Given the description of an element on the screen output the (x, y) to click on. 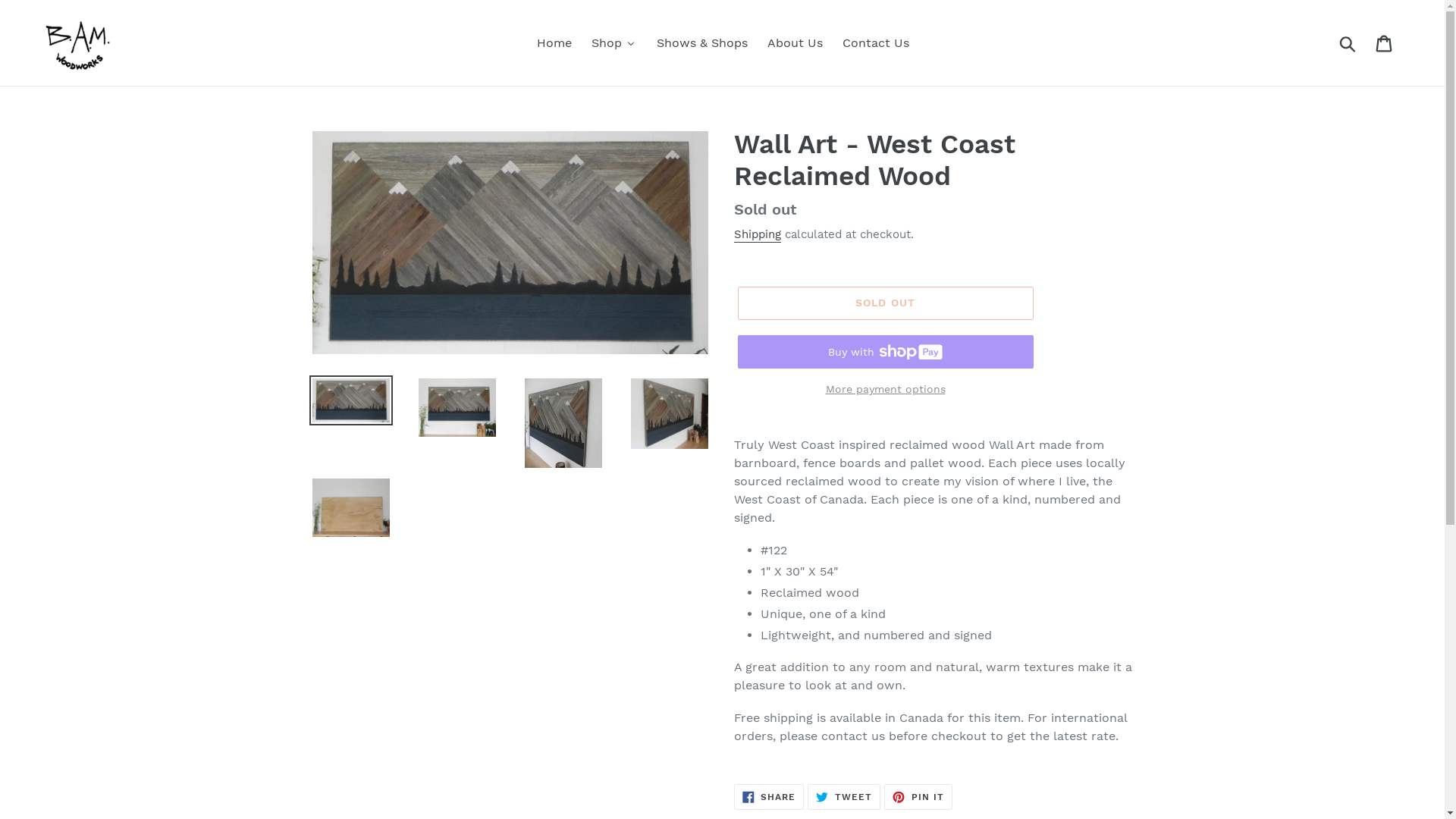
SOLD OUT Element type: text (884, 303)
More payment options Element type: text (884, 389)
Shows & Shops Element type: text (701, 42)
TWEET
TWEET ON TWITTER Element type: text (843, 796)
Shipping Element type: text (757, 234)
Shop Element type: text (613, 42)
SHARE
SHARE ON FACEBOOK Element type: text (769, 796)
PIN IT
PIN ON PINTEREST Element type: text (918, 796)
About Us Element type: text (793, 42)
Submit Element type: text (1348, 42)
Home Element type: text (553, 42)
Cart Element type: text (1384, 42)
Contact Us Element type: text (874, 42)
